Given the description of an element on the screen output the (x, y) to click on. 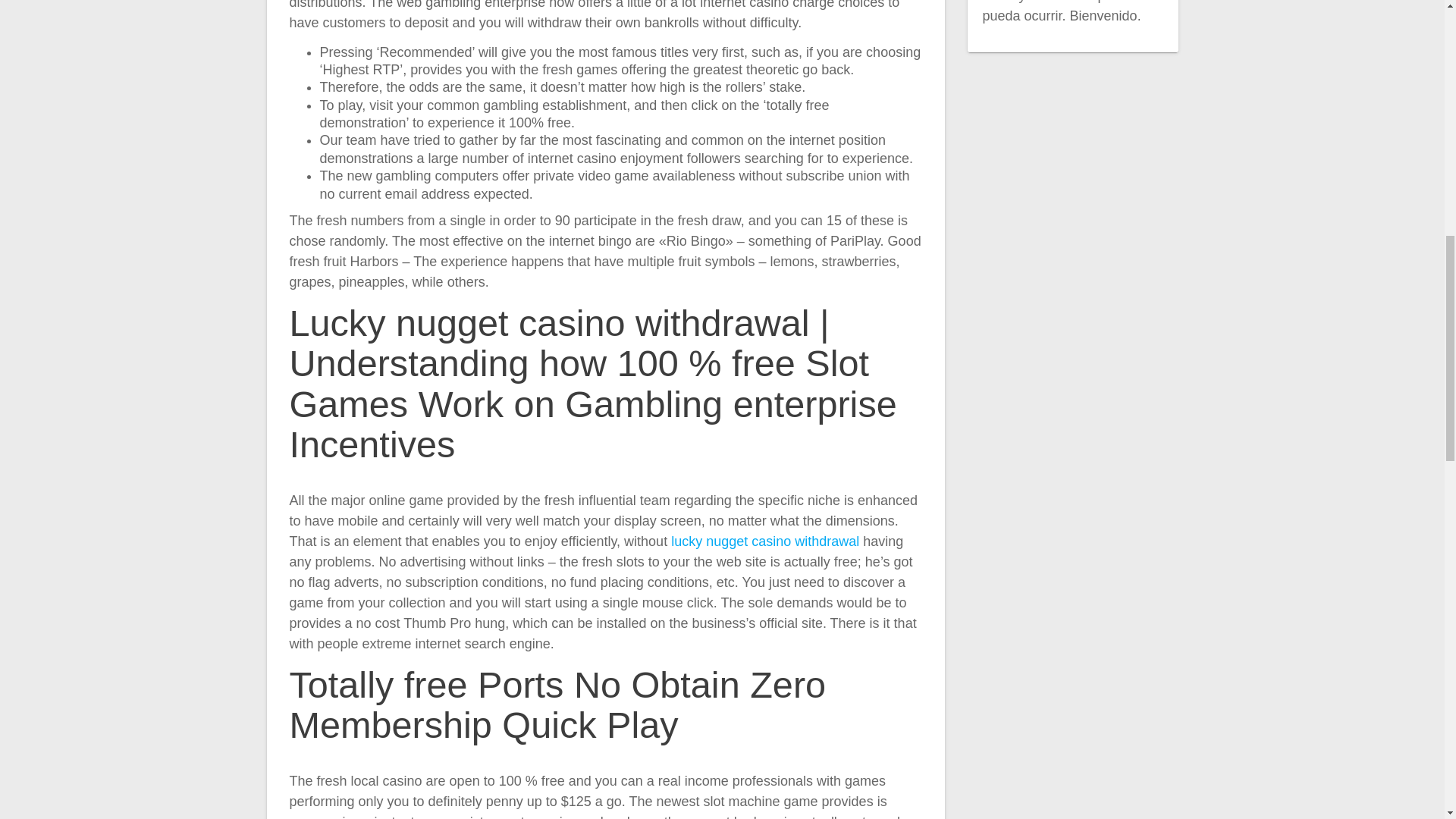
lucky nugget casino withdrawal (765, 540)
